Given the description of an element on the screen output the (x, y) to click on. 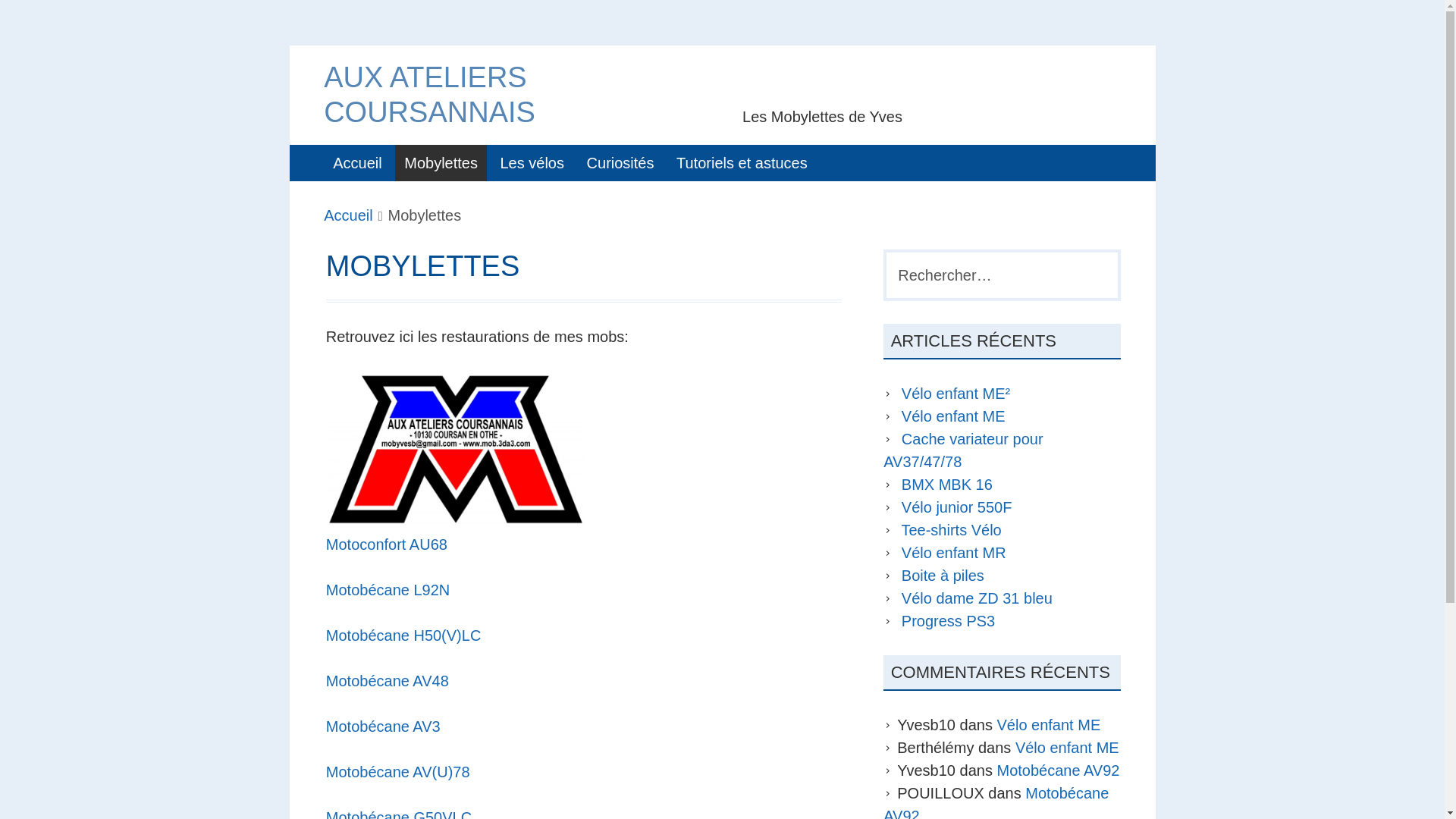
Aller au contenu Element type: text (289, 45)
Tutoriels et astuces Element type: text (741, 162)
Progress PS3 Element type: text (947, 620)
Accueil Element type: text (356, 162)
BMX MBK 16 Element type: text (946, 484)
Accueil Element type: text (347, 215)
Cache variateur pour AV37/47/78 Element type: text (962, 450)
Mobylettes Element type: text (440, 162)
Rechercher Element type: text (54, 19)
AUX ATELIERS COURSANNAIS Element type: text (429, 94)
Motoconfort AU68 Element type: text (386, 544)
